Given the description of an element on the screen output the (x, y) to click on. 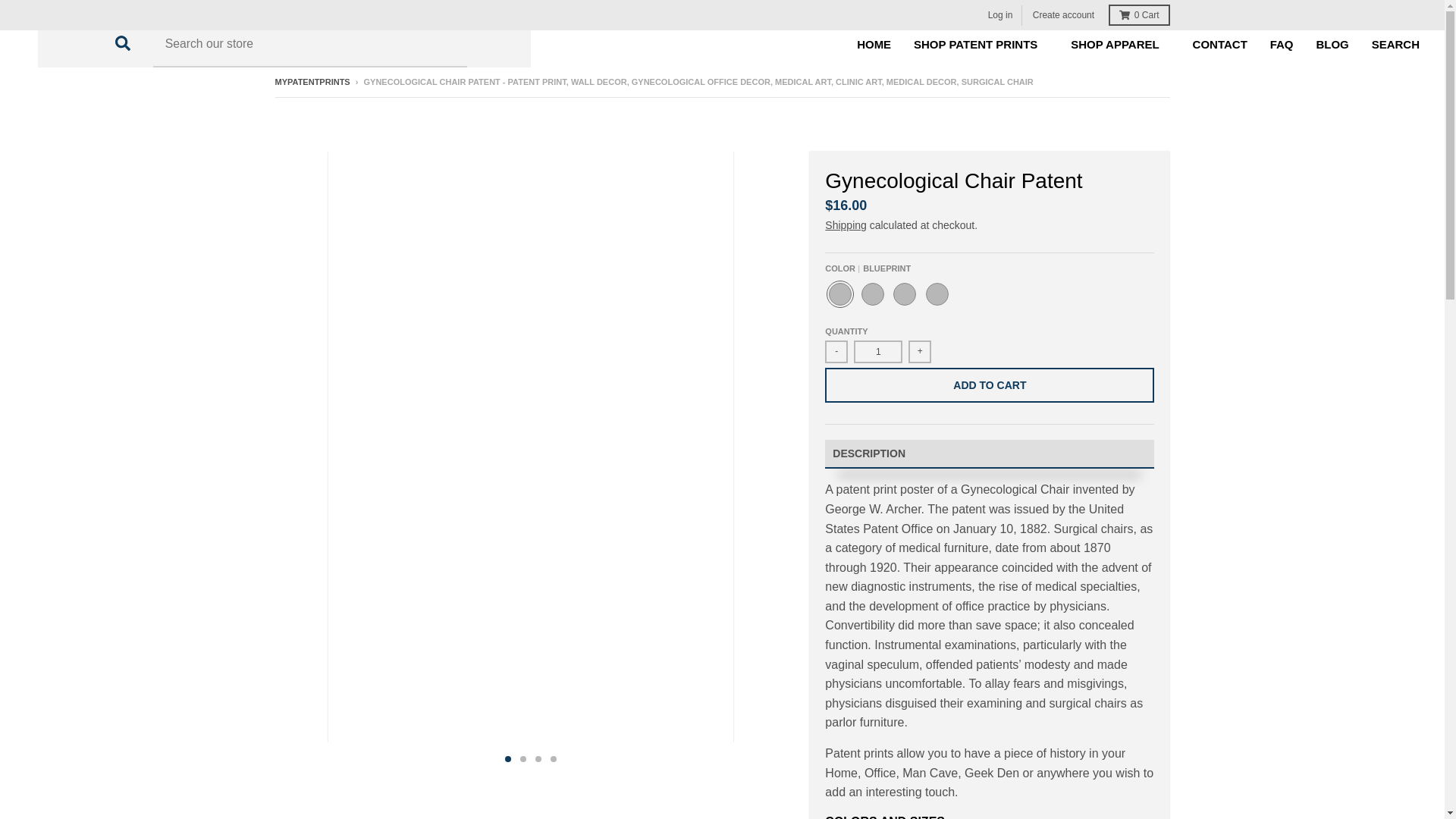
SHOP PATENT PRINTS (981, 44)
Back to the frontpage (312, 81)
Parchment (904, 293)
HOME (874, 44)
Log in (1000, 14)
Create account (1063, 14)
1 (877, 351)
0 Cart (1138, 14)
Chalkboard (872, 293)
White (936, 293)
Blueprint (840, 293)
